Given the description of an element on the screen output the (x, y) to click on. 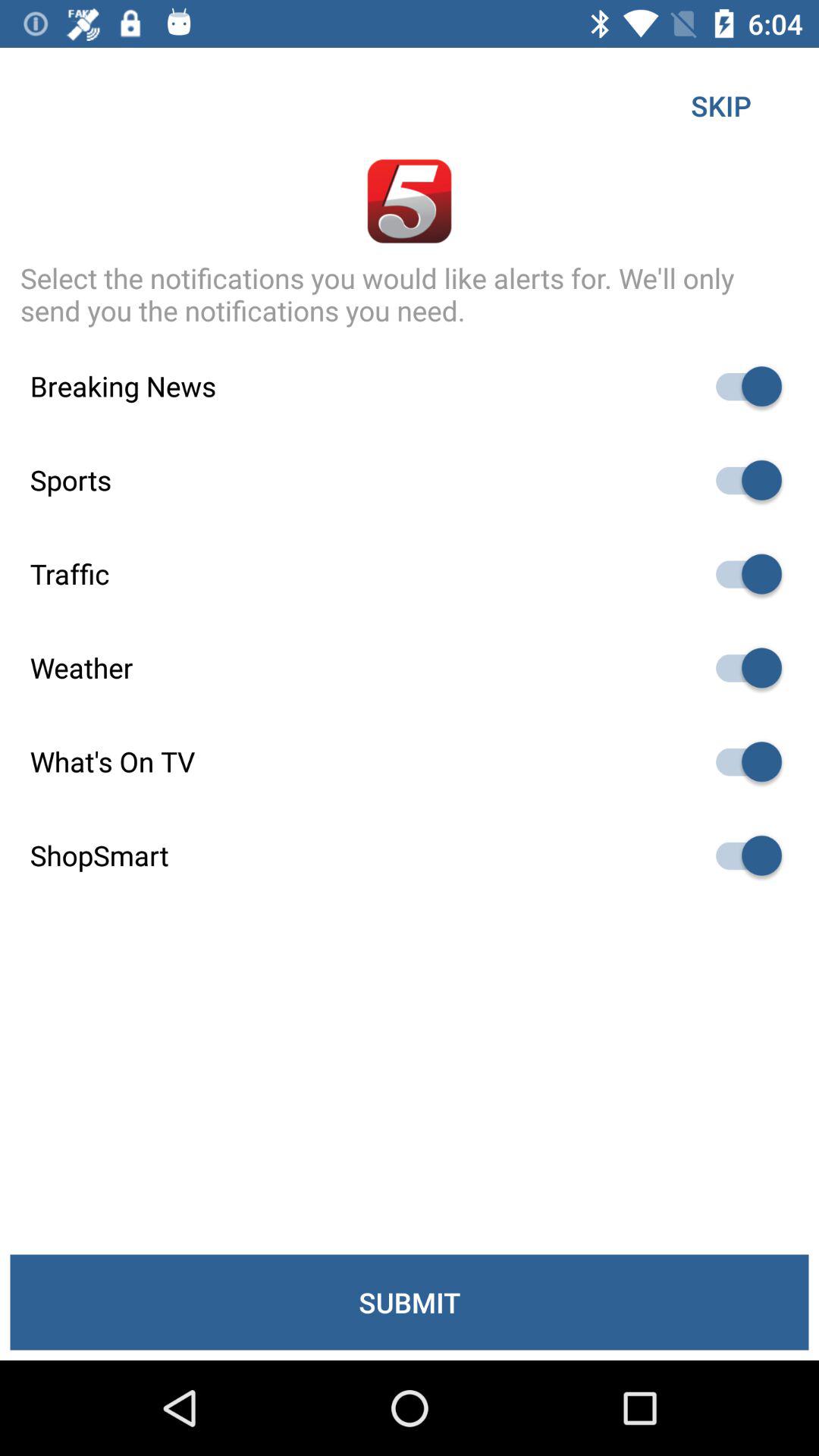
swipe until the skip icon (720, 105)
